Given the description of an element on the screen output the (x, y) to click on. 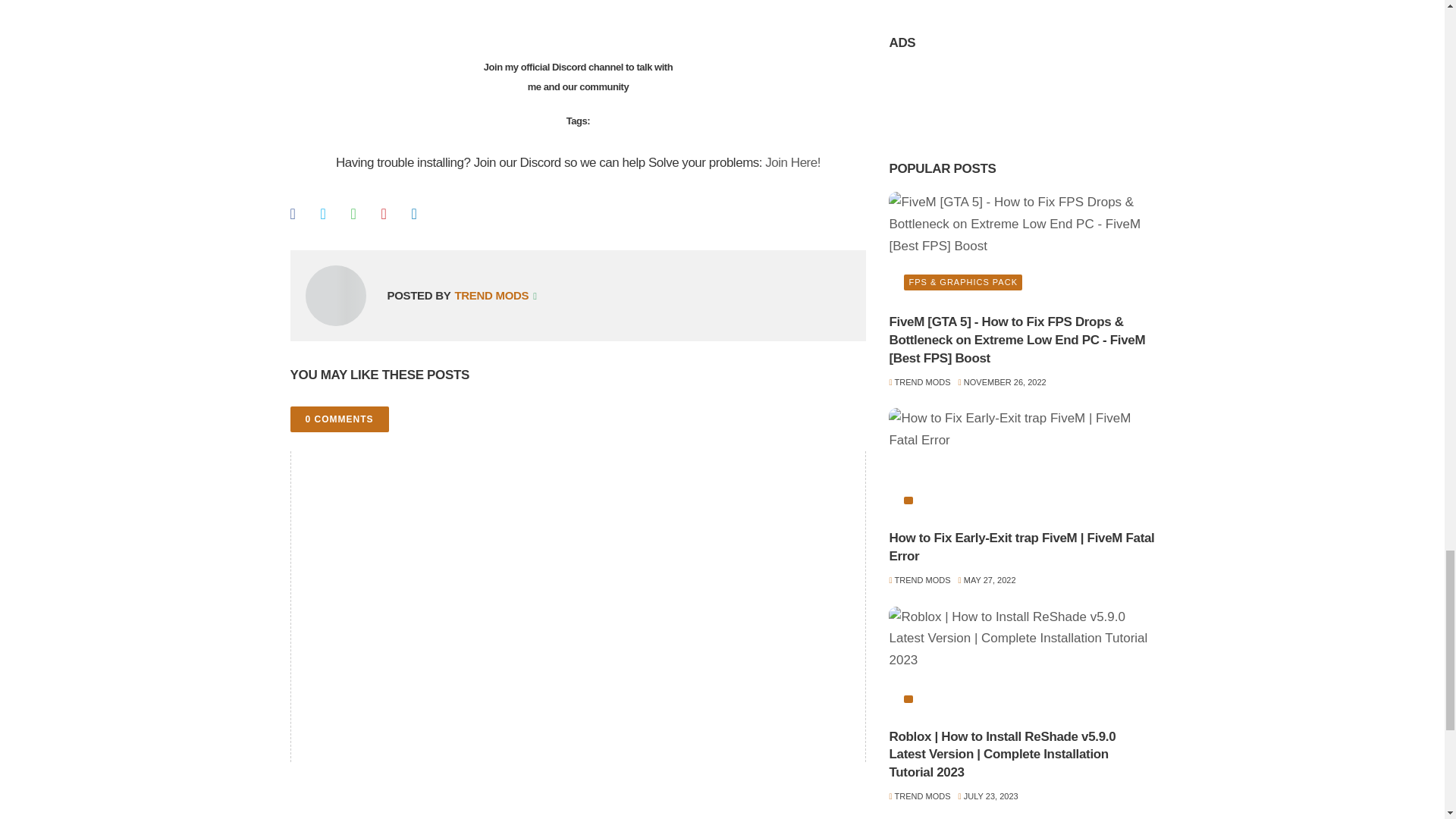
Join Here! (793, 162)
